Given the description of an element on the screen output the (x, y) to click on. 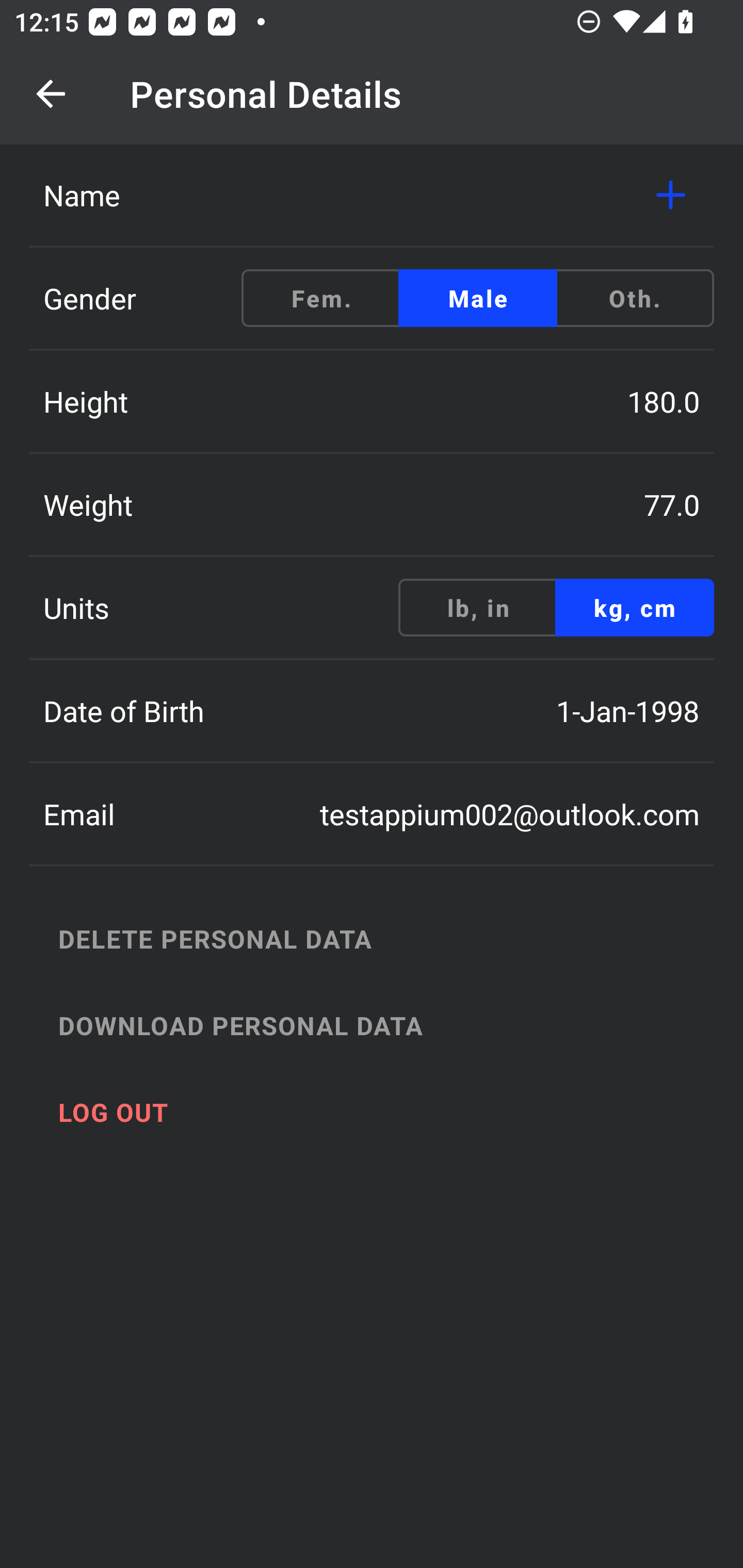
Name (371, 195)
Fem. (320, 298)
Male (477, 298)
Oth. (634, 298)
Height 180.0 (371, 401)
Weight 77.0 (371, 504)
lb, in (477, 607)
kg, cm (634, 607)
Date of Birth 1-Jan-1998 (371, 711)
Email testappium002@outlook.com (371, 813)
DELETE PERSONAL DATA (393, 938)
DOWNLOAD PERSONAL DATA (393, 1025)
LOG OUT (393, 1112)
